Given the description of an element on the screen output the (x, y) to click on. 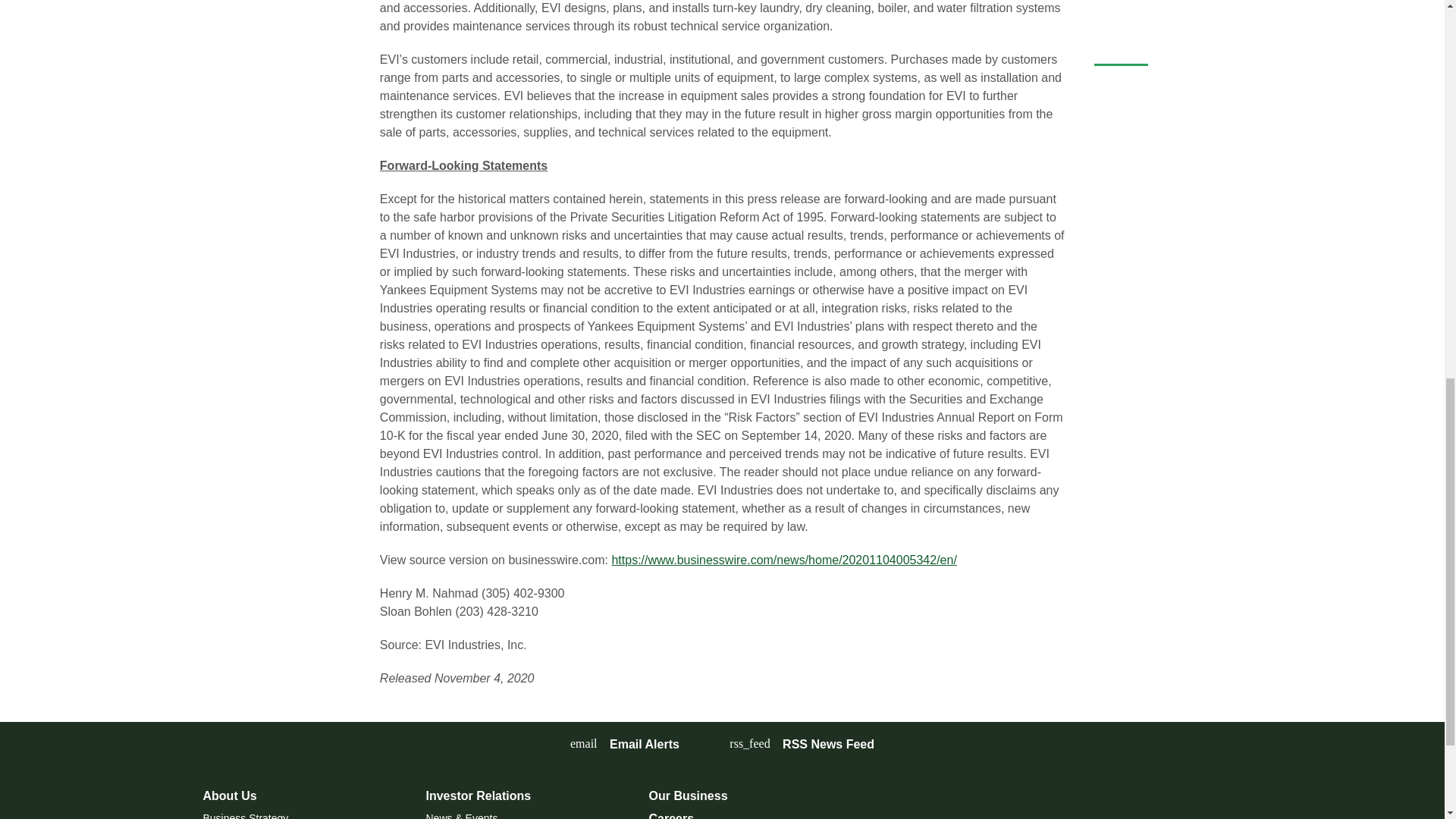
Opens in a new window (801, 743)
